Given the description of an element on the screen output the (x, y) to click on. 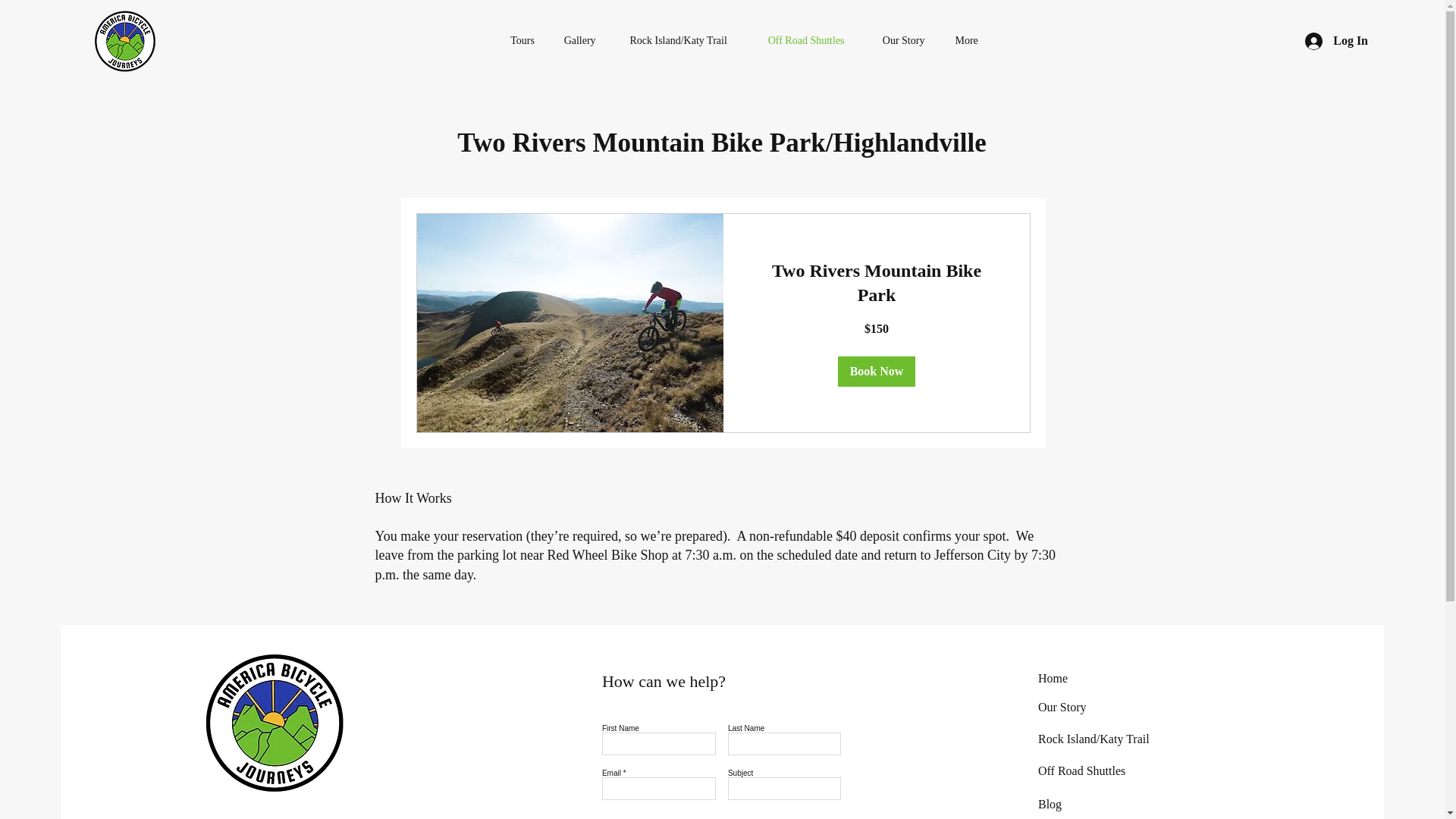
Tours (523, 40)
Log In (1336, 40)
Two Rivers Mountain Bike Park (876, 283)
Blog (1049, 803)
Our Story (1062, 707)
Off Road Shuttles (806, 40)
Our Story (904, 40)
Home (1052, 677)
Book Now (876, 371)
Gallery (580, 40)
Off Road Shuttles (1081, 770)
